Given the description of an element on the screen output the (x, y) to click on. 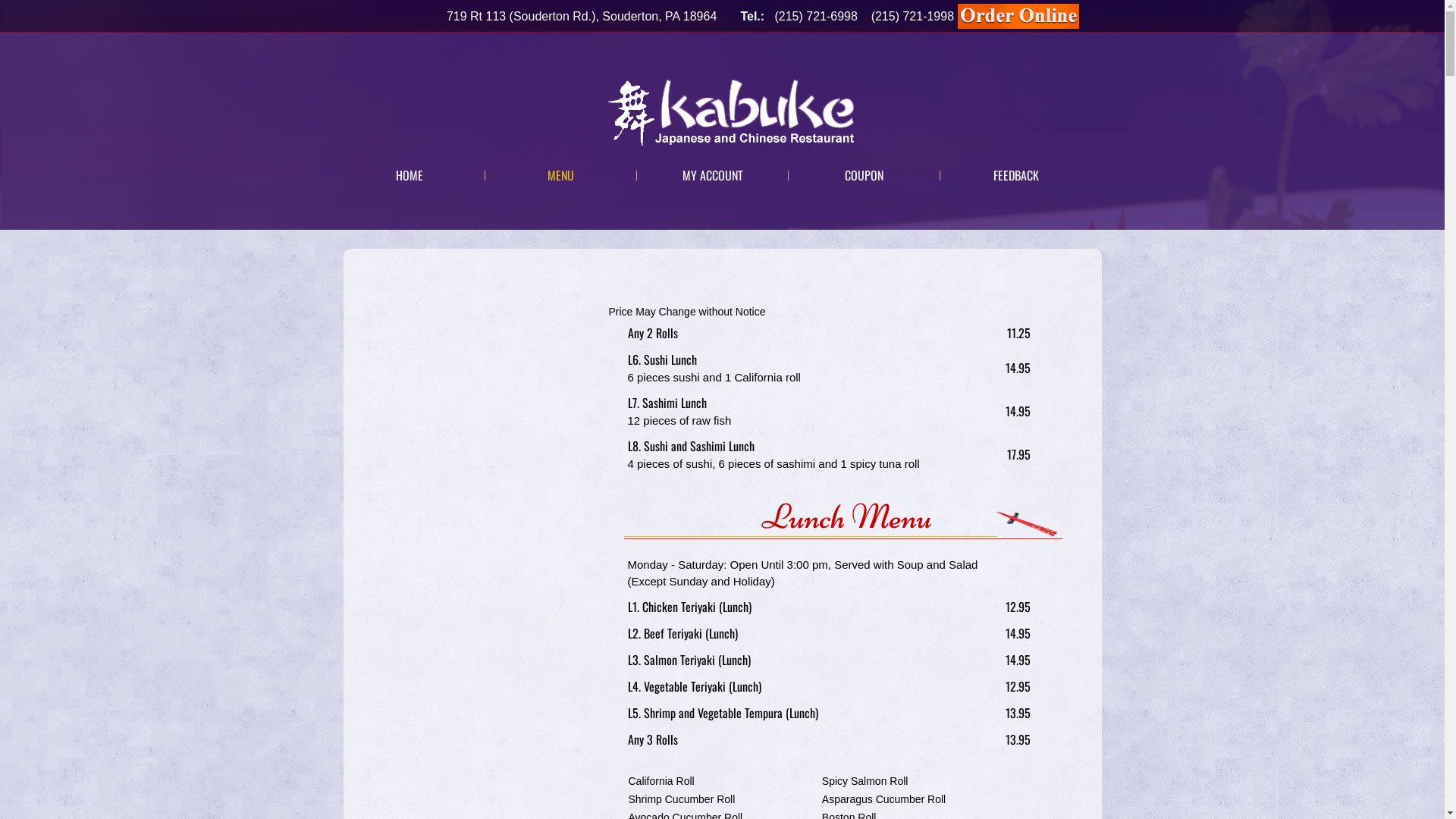
MY ACCOUNT Element type: text (712, 175)
MENU Element type: text (561, 175)
FEEDBACK Element type: text (1016, 175)
COUPON Element type: text (864, 175)
HOME Element type: text (409, 175)
